Given the description of an element on the screen output the (x, y) to click on. 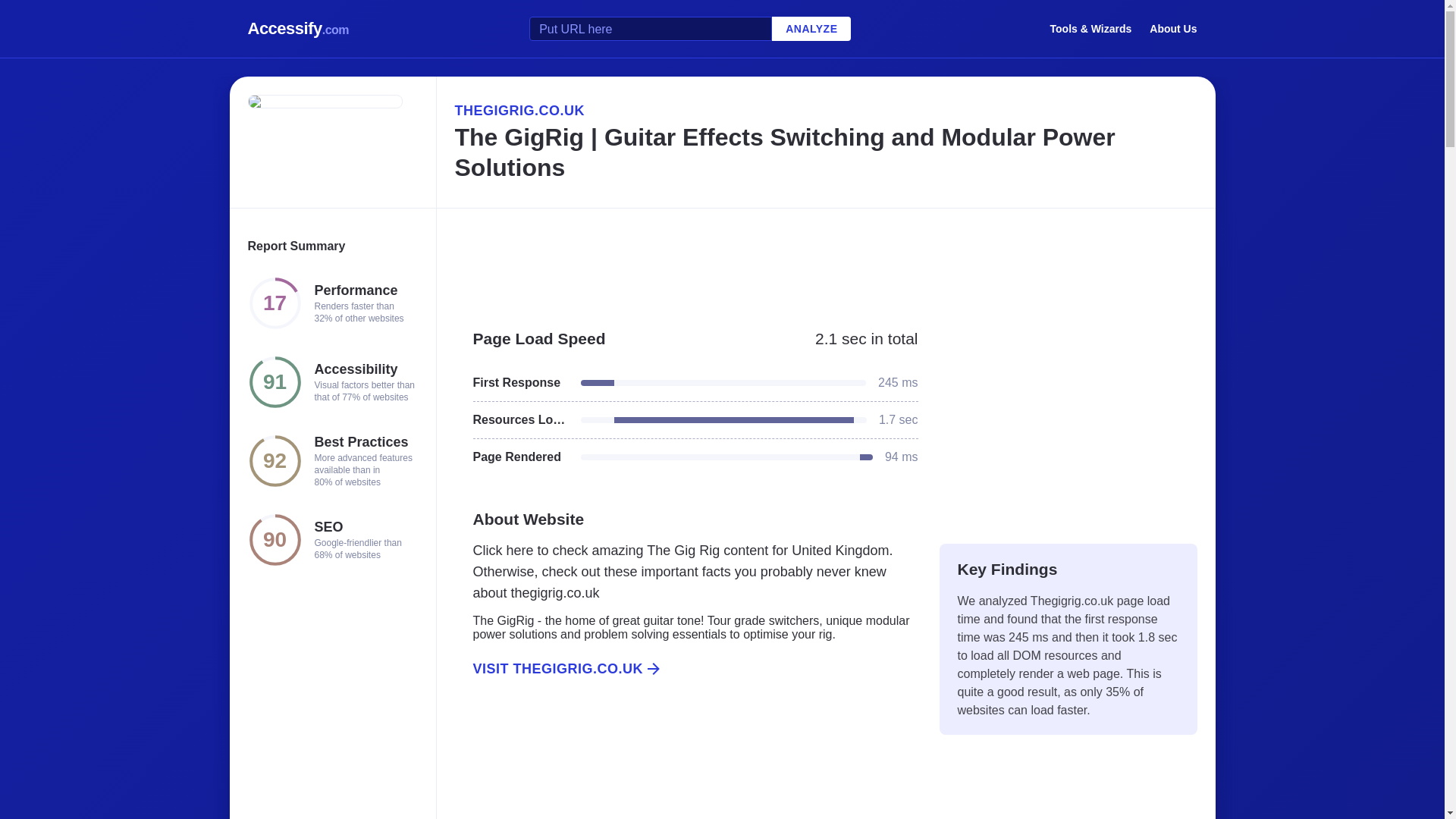
THEGIGRIG.CO.UK (825, 110)
VISIT THEGIGRIG.CO.UK (686, 669)
Accessify.com (298, 28)
ANALYZE (810, 28)
About Us (1173, 28)
